Given the description of an element on the screen output the (x, y) to click on. 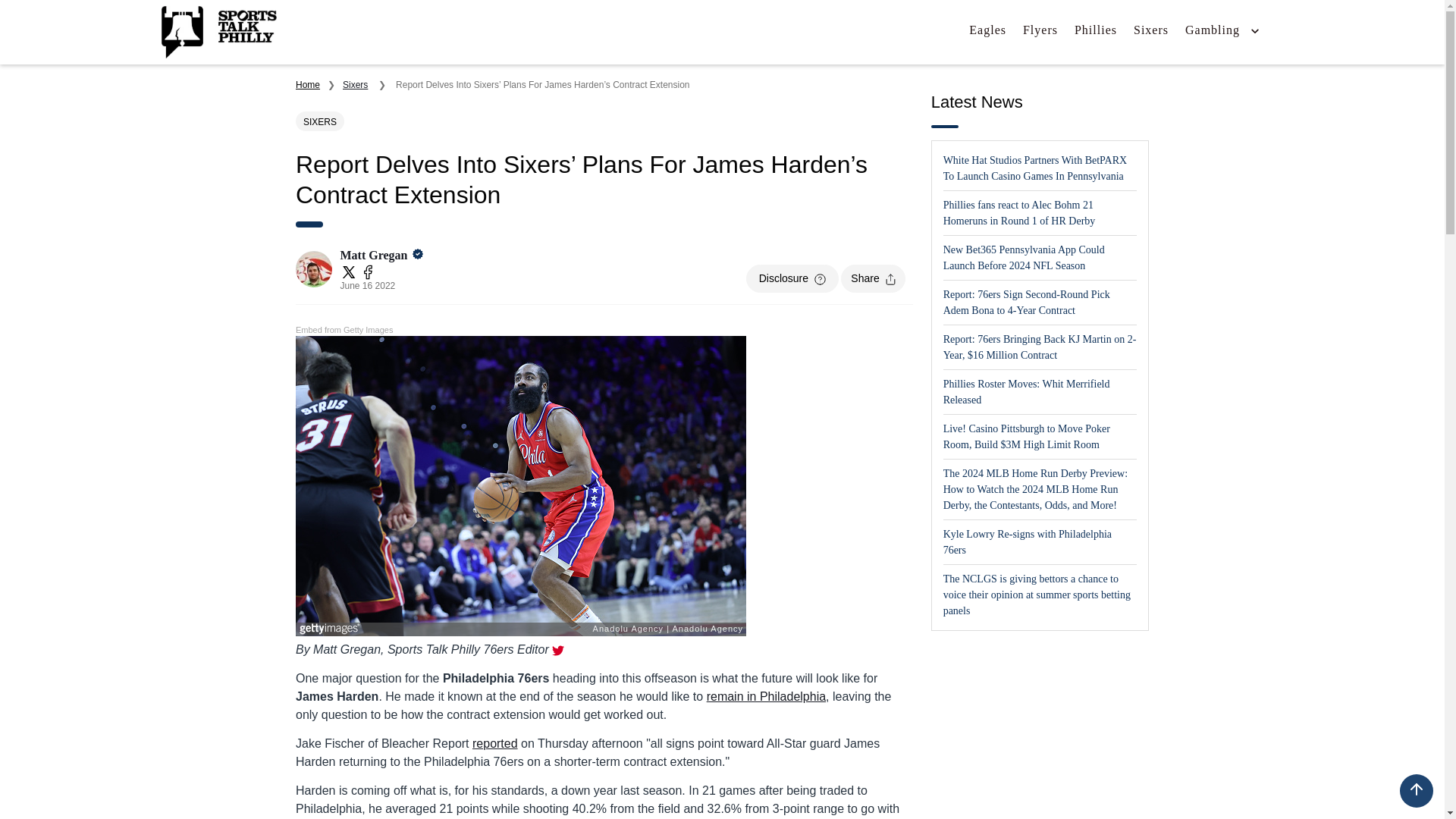
Gambling (1212, 30)
